Given the description of an element on the screen output the (x, y) to click on. 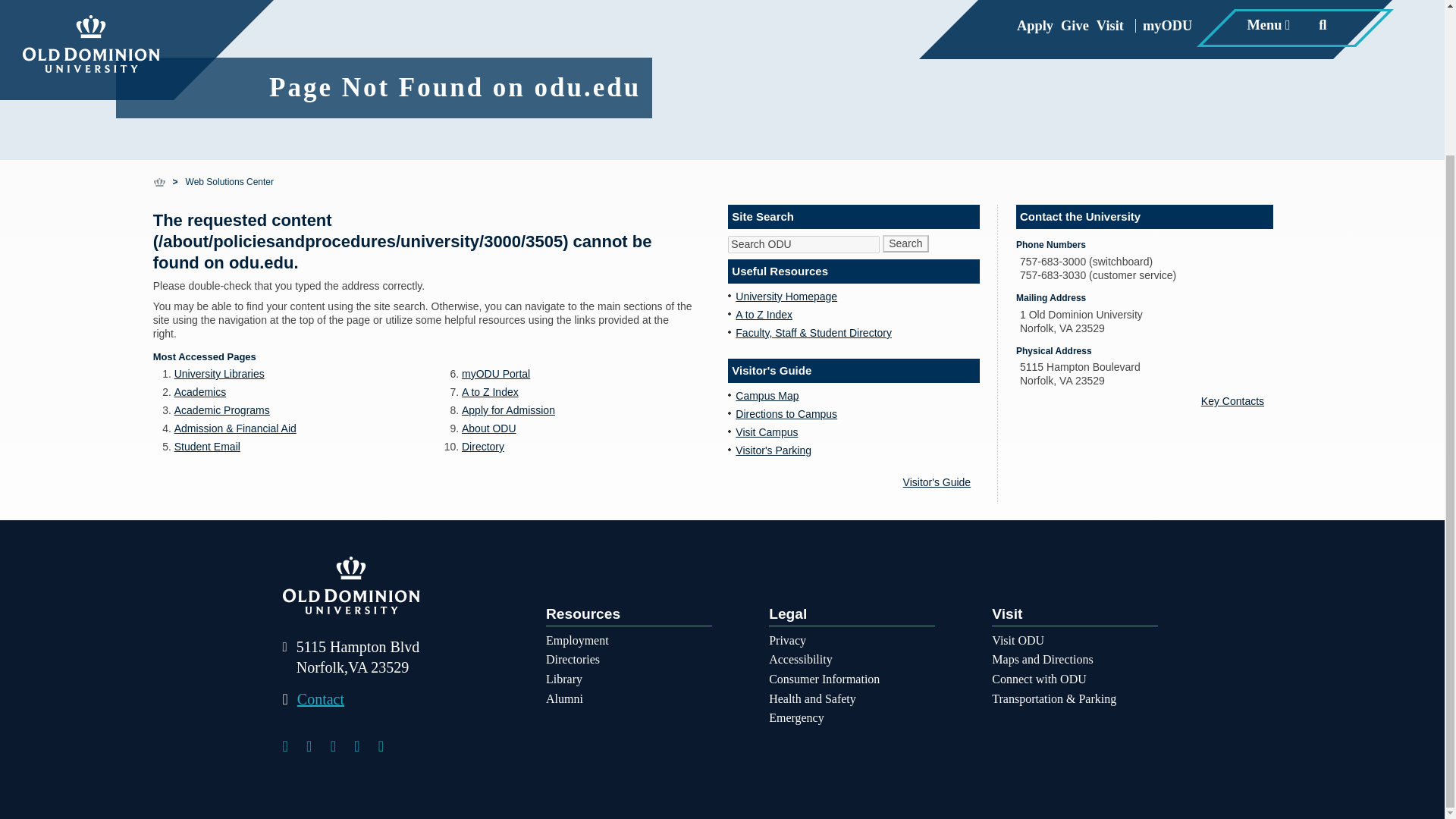
A to Z Index (489, 391)
Academic Programs (221, 410)
Campus Map (766, 395)
Directions to Campus (786, 413)
A to Z Index (763, 314)
University Homepage (786, 296)
Academics (199, 391)
myODU Portal (495, 373)
Contact (312, 699)
Visit Campus (766, 431)
Student Email (207, 446)
Search ODU (803, 244)
Directory (482, 446)
Key Contacts (1236, 400)
University Libraries (219, 373)
